Given the description of an element on the screen output the (x, y) to click on. 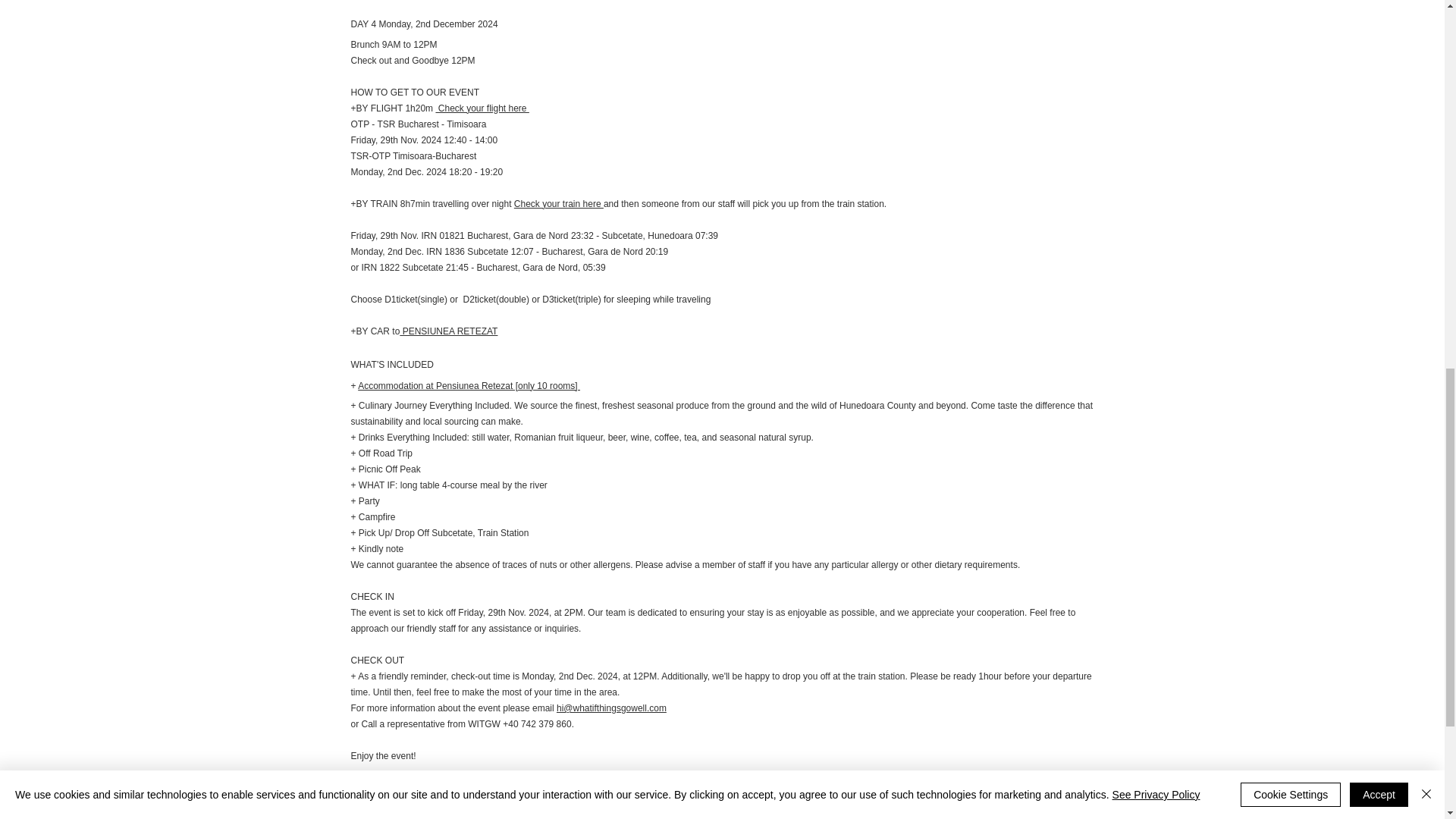
 Check your flight here  (481, 108)
Check your train here  (558, 204)
1. BECOME A MEMBER (452, 788)
PENSIUNEA RETEZAT (447, 330)
